Given the description of an element on the screen output the (x, y) to click on. 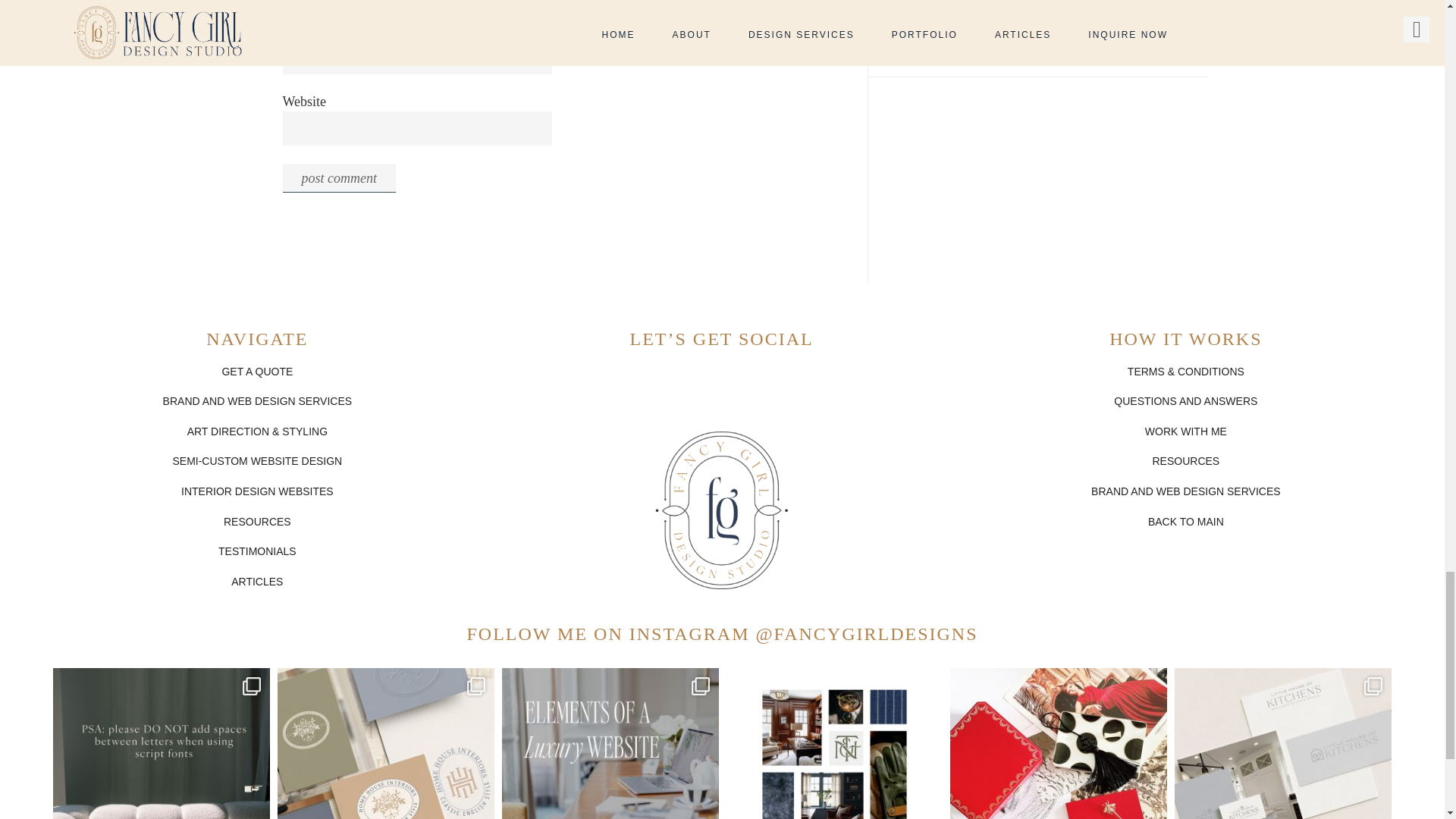
Post Comment (338, 177)
